Given the description of an element on the screen output the (x, y) to click on. 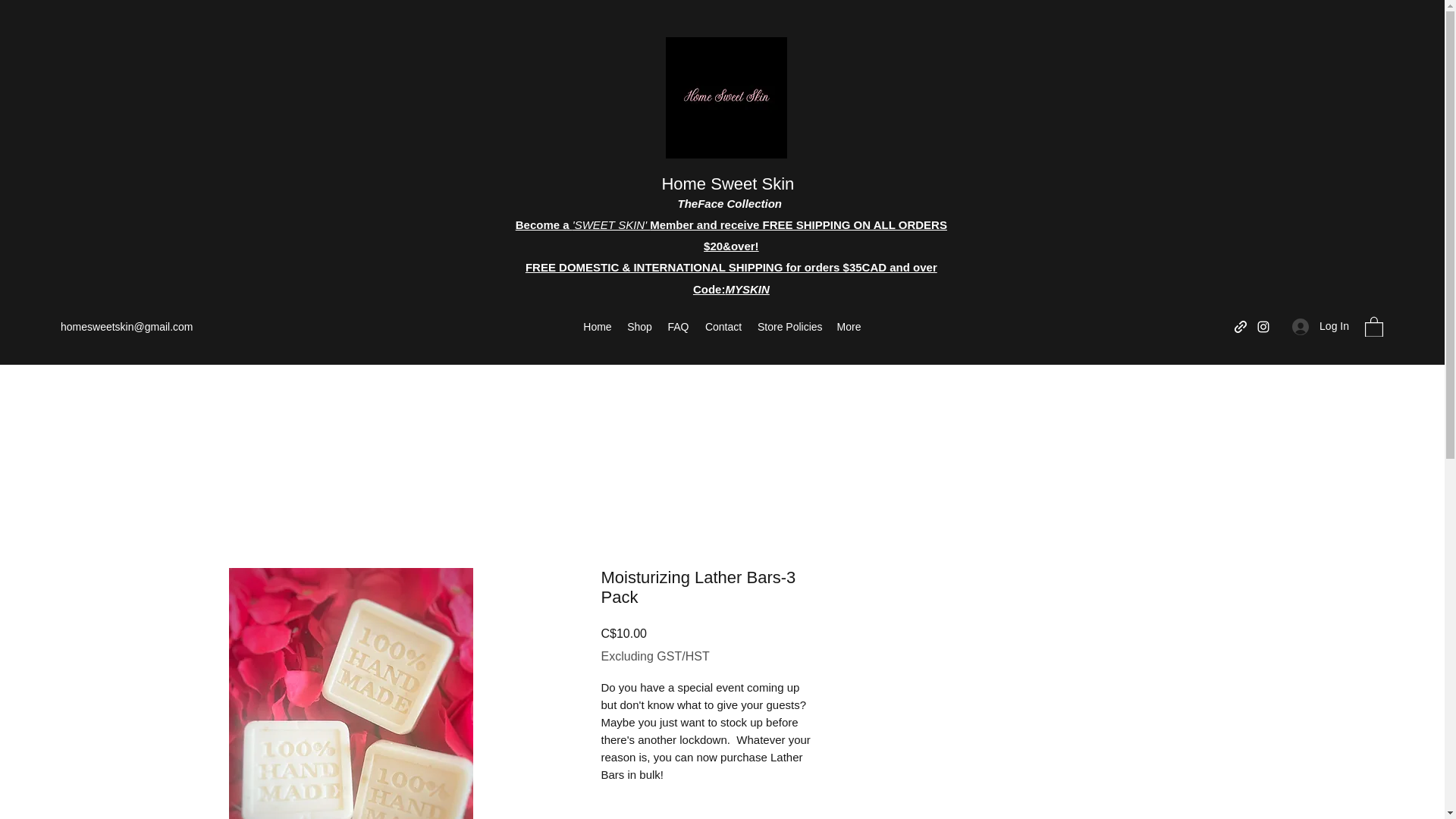
FAQ (678, 326)
Home (597, 326)
Store Policies (788, 326)
Shop (639, 326)
Home Sweet Skin (727, 183)
Contact (723, 326)
Log In (1320, 326)
